Given the description of an element on the screen output the (x, y) to click on. 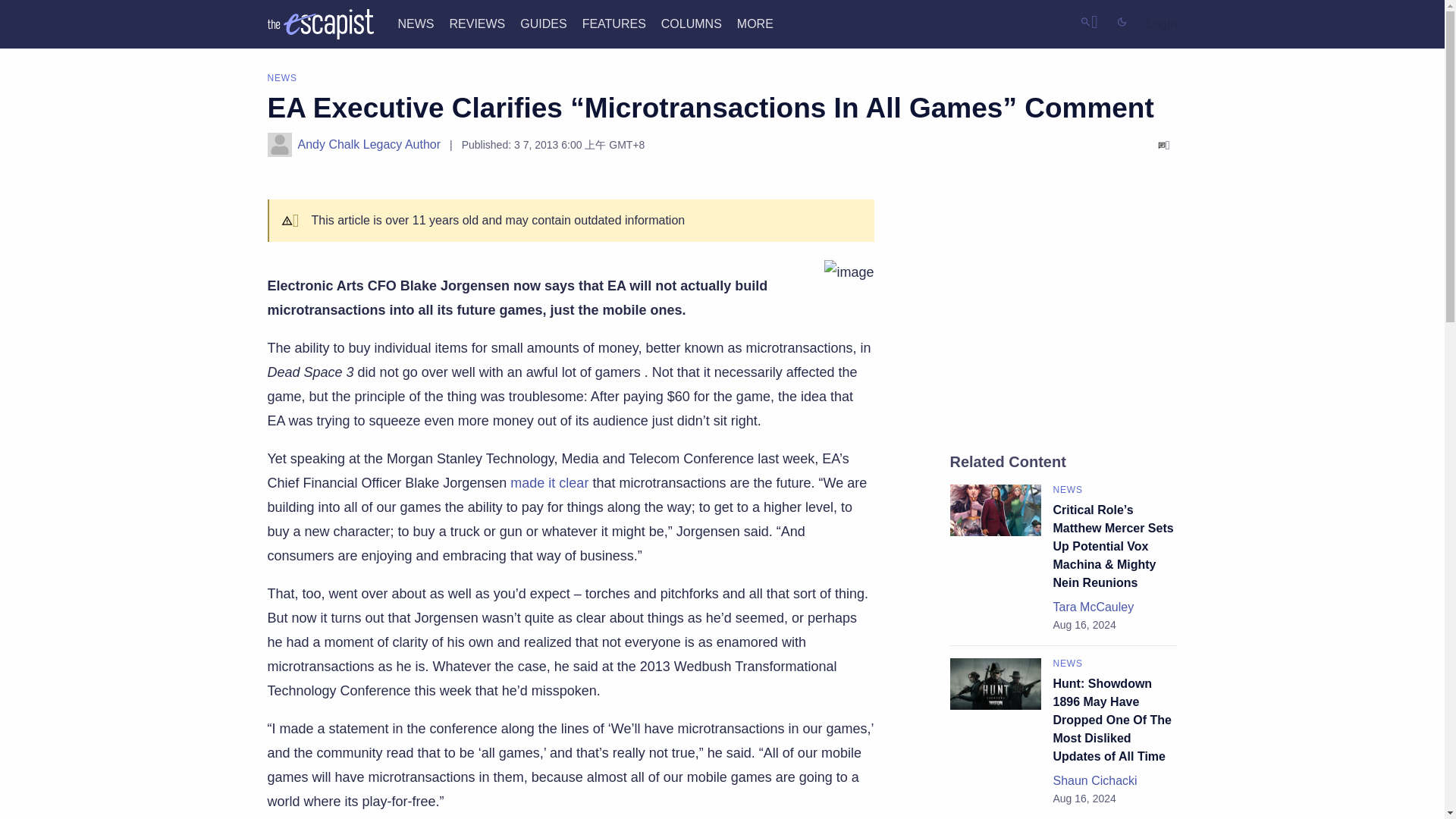
FEATURES (614, 23)
GUIDES (542, 23)
Dark Mode (1124, 21)
REVIEWS (476, 23)
COLUMNS (691, 23)
NEWS (415, 23)
Login (1162, 23)
Search (1088, 21)
